Given the description of an element on the screen output the (x, y) to click on. 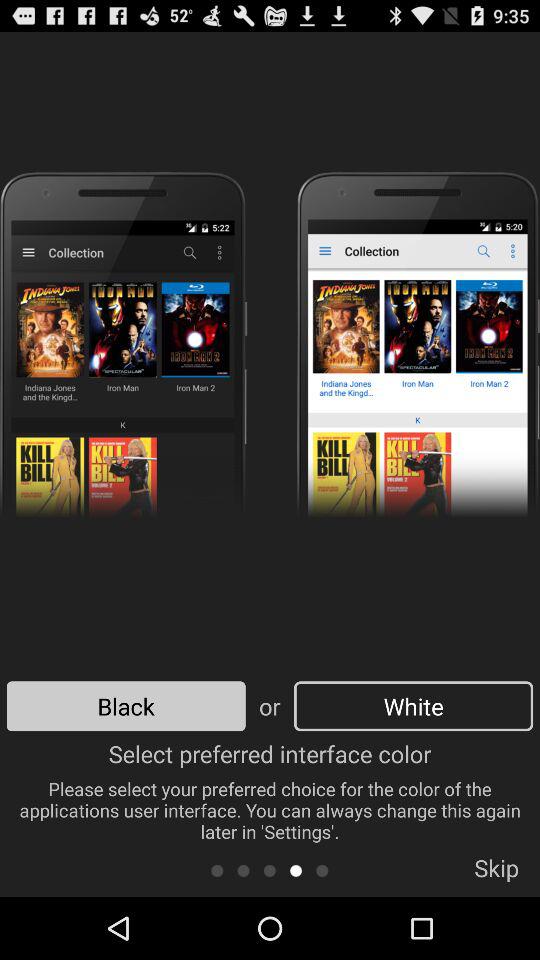
open the app above the select preferred interface app (125, 706)
